Given the description of an element on the screen output the (x, y) to click on. 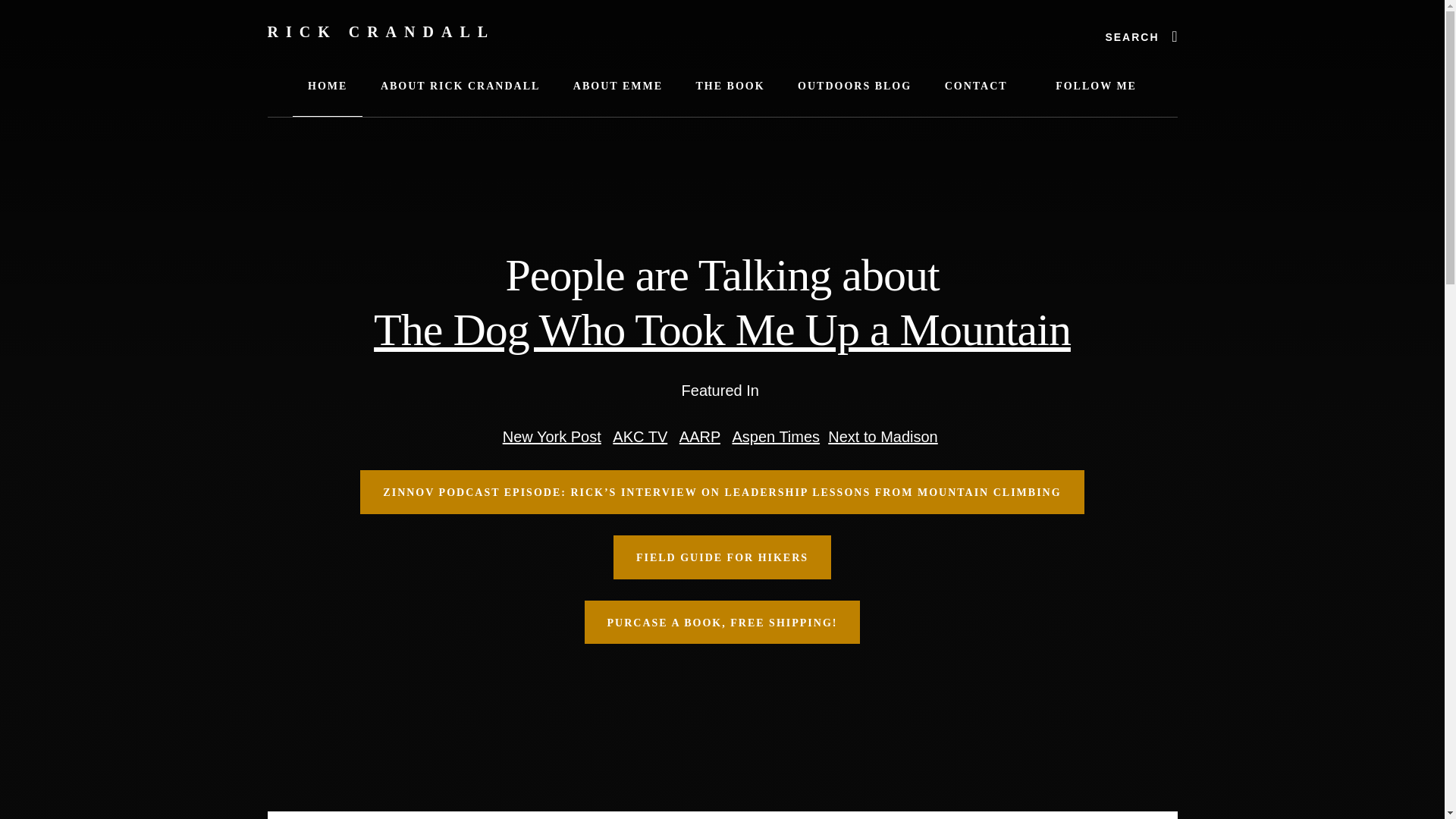
New York Post (551, 436)
HOME (327, 86)
FIELD GUIDE FOR HIKERS (721, 557)
OUTDOORS BLOG (854, 86)
AARP (699, 436)
CONTACT (976, 86)
Aspen Times (775, 436)
ABOUT RICK CRANDALL (459, 86)
PURCASE A BOOK, FREE SHIPPING! (722, 622)
AKC TV (639, 436)
Next to Madison (882, 436)
FOLLOW ME (1088, 86)
